Given the description of an element on the screen output the (x, y) to click on. 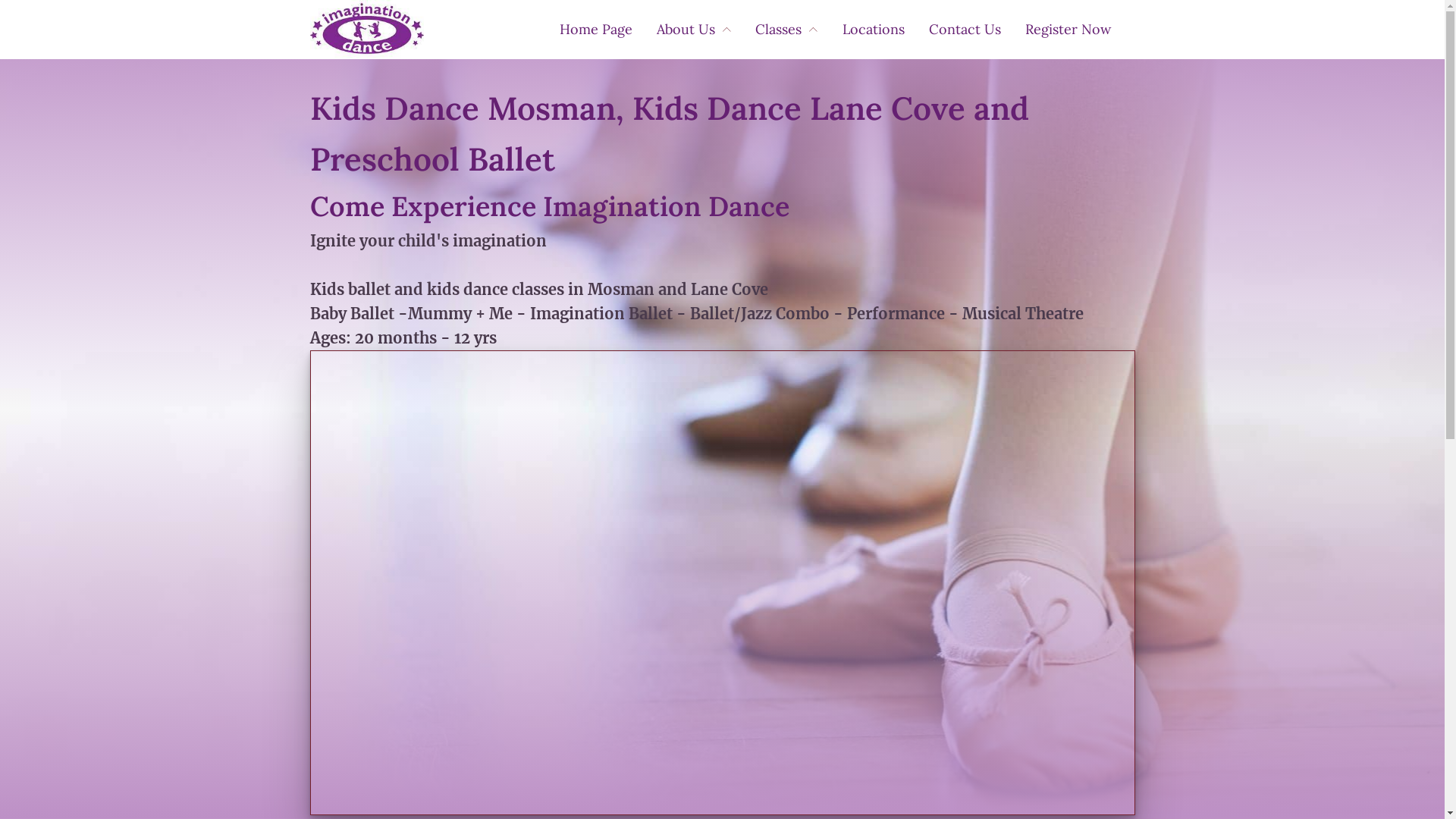
Dates and Information Element type: text (884, 124)
About Us Element type: text (705, 29)
Mummy & Me Element type: text (886, 120)
ID Performance & Musical Theatre Element type: text (889, 113)
Teachers Element type: text (697, 60)
Locations Element type: text (884, 29)
Classes Element type: text (798, 29)
Home Page Element type: text (607, 29)
Register Now Element type: text (1080, 29)
Ballet/Jazz Combo or ID Performance Element type: text (890, 109)
Contact Us Element type: text (976, 29)
Holiday Camps Element type: text (892, 105)
Imagination Ballet Element type: text (887, 117)
